Given the description of an element on the screen output the (x, y) to click on. 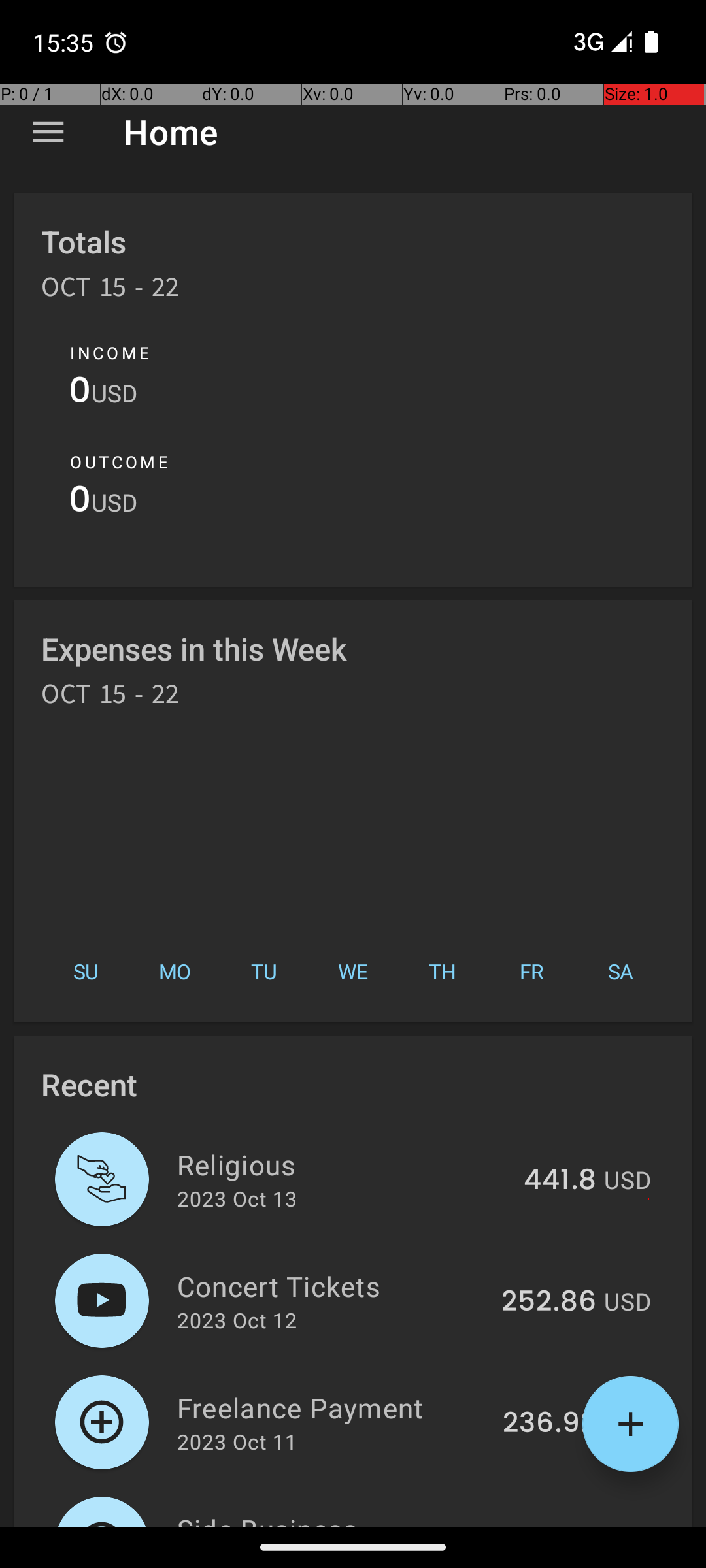
441.8 Element type: android.widget.TextView (559, 1180)
Concert Tickets Element type: android.widget.TextView (331, 1285)
252.86 Element type: android.widget.TextView (548, 1301)
236.92 Element type: android.widget.TextView (549, 1423)
Side Business Element type: android.widget.TextView (330, 1518)
452.05 Element type: android.widget.TextView (547, 1524)
